Given the description of an element on the screen output the (x, y) to click on. 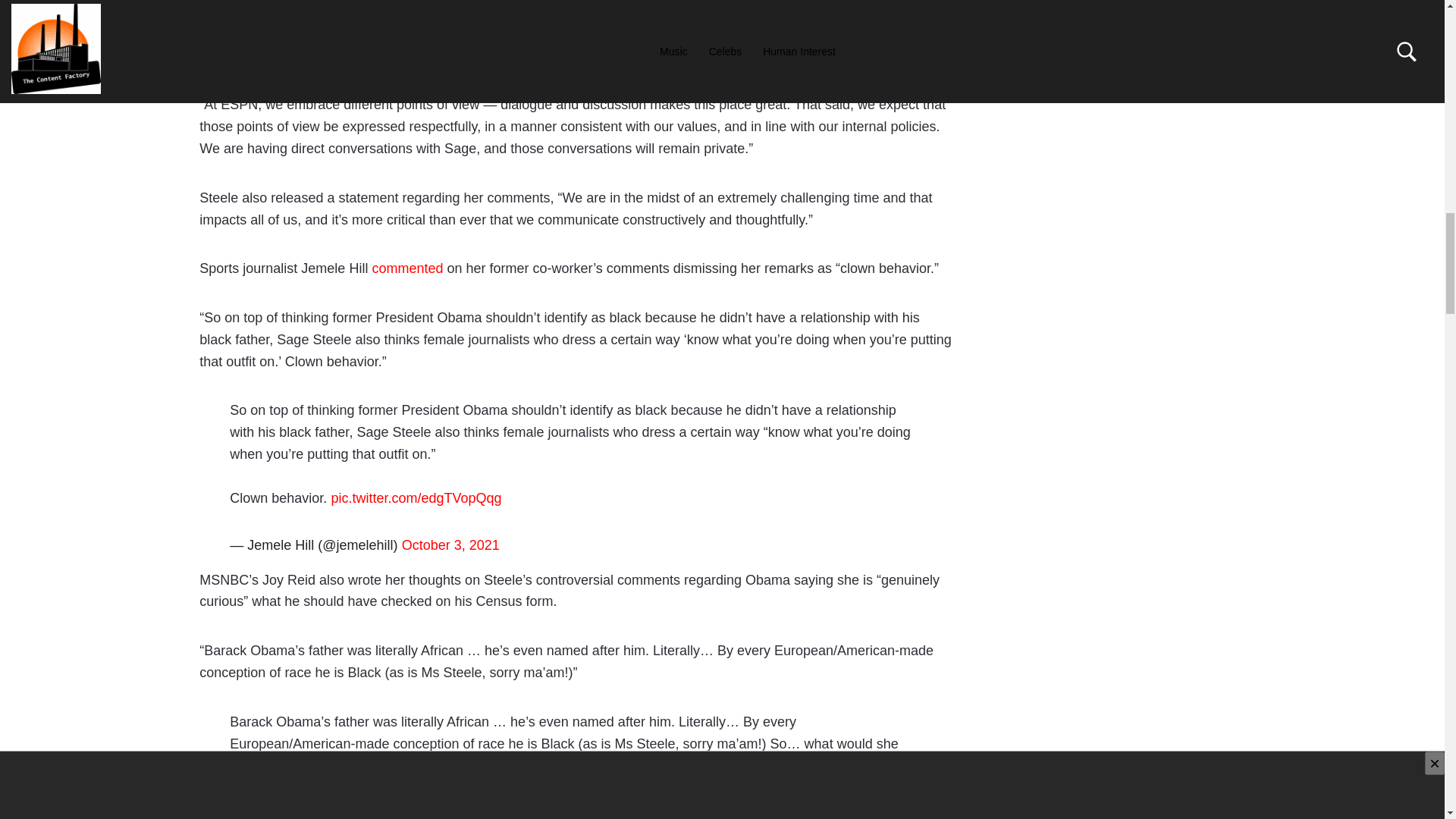
commented (406, 268)
October 4, 2021 (437, 812)
October 3, 2021 (450, 544)
